Given the description of an element on the screen output the (x, y) to click on. 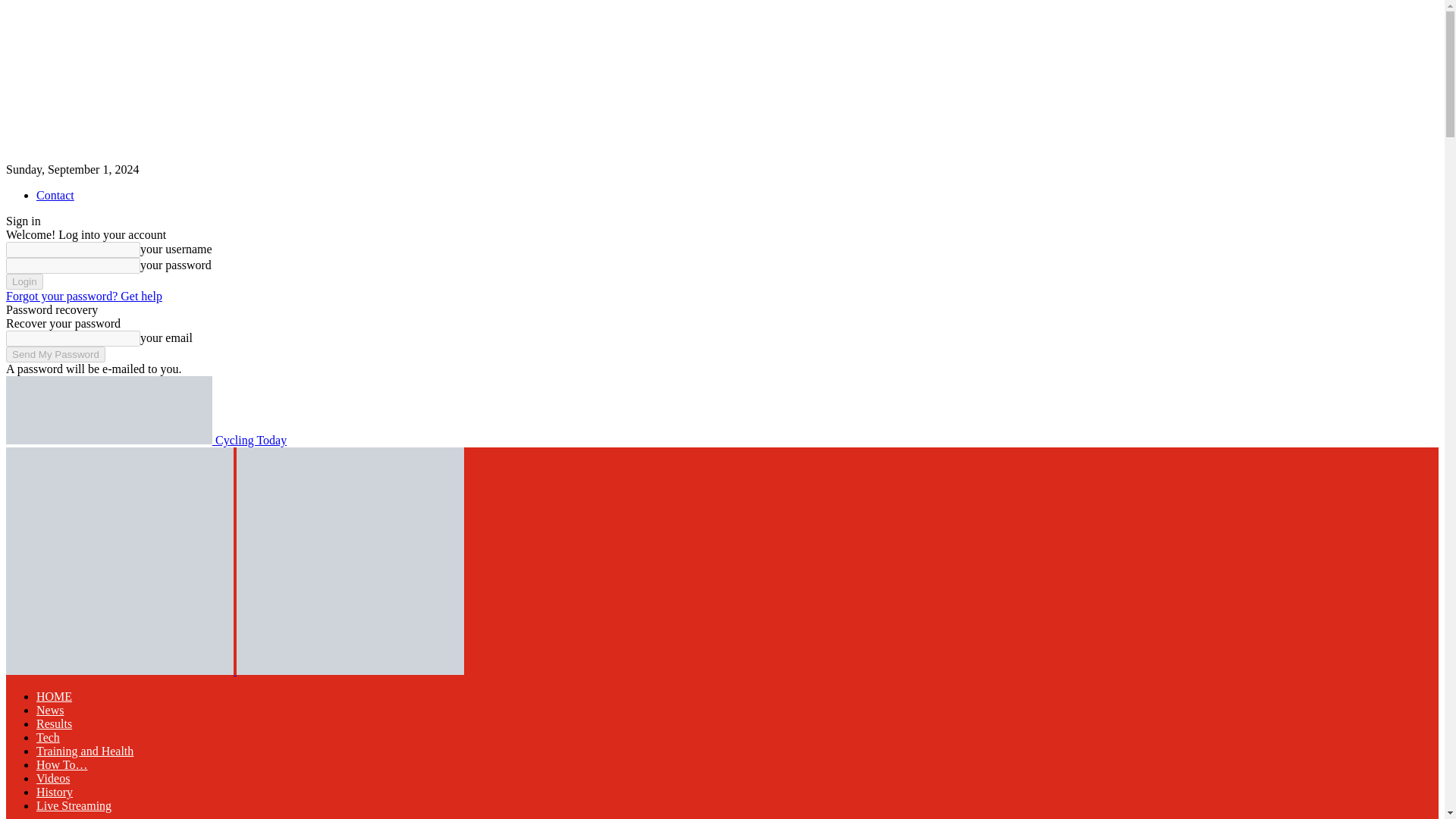
Live Streaming (74, 805)
Tech (47, 737)
Cycling Today (145, 440)
News (50, 709)
History (54, 791)
HOME (53, 696)
Forgot your password? Get help (83, 295)
Login (24, 281)
Videos (52, 778)
Results (53, 723)
